Given the description of an element on the screen output the (x, y) to click on. 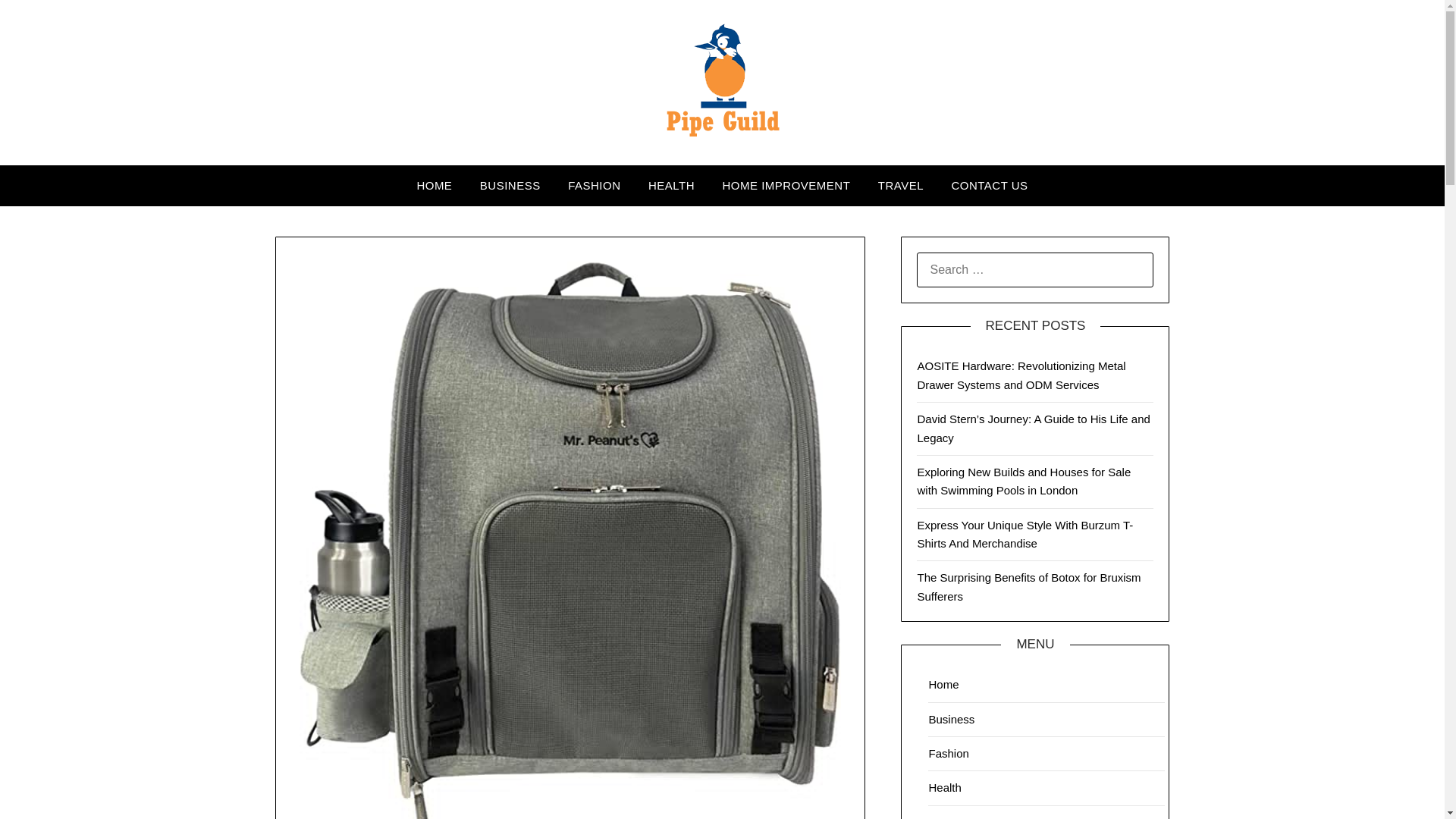
Business (951, 718)
HEALTH (671, 185)
The Surprising Benefits of Botox for Bruxism Sufferers (1028, 585)
Health (944, 787)
CONTACT US (989, 185)
FASHION (593, 185)
HOME IMPROVEMENT (785, 185)
HOME (434, 185)
